Given the description of an element on the screen output the (x, y) to click on. 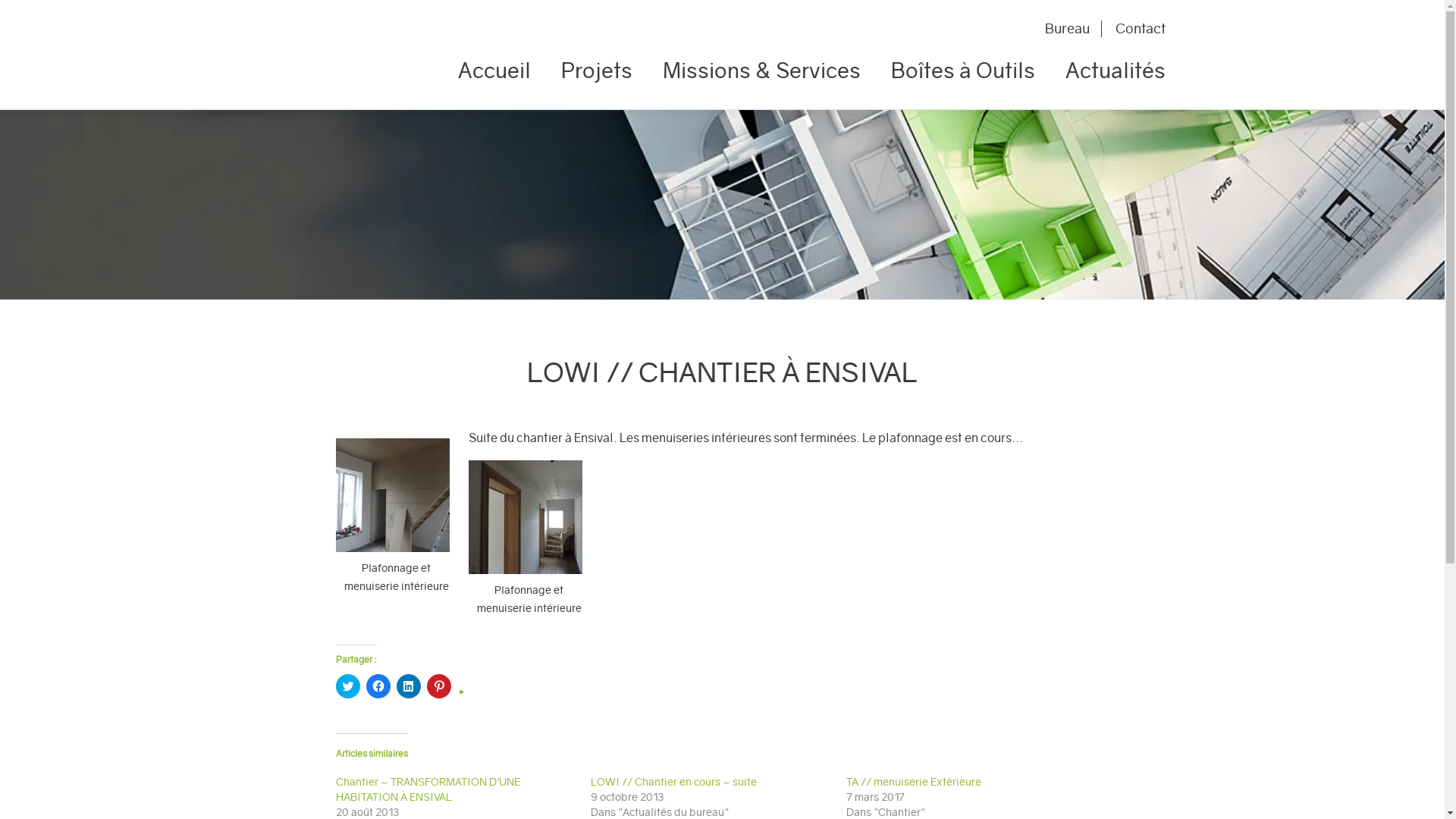
Accueil Element type: text (502, 76)
Projets Element type: text (596, 76)
Bureau Element type: text (1072, 28)
be-A Element type: text (346, 54)
Contact Element type: text (1134, 28)
Missions & Services Element type: text (761, 76)
